Given the description of an element on the screen output the (x, y) to click on. 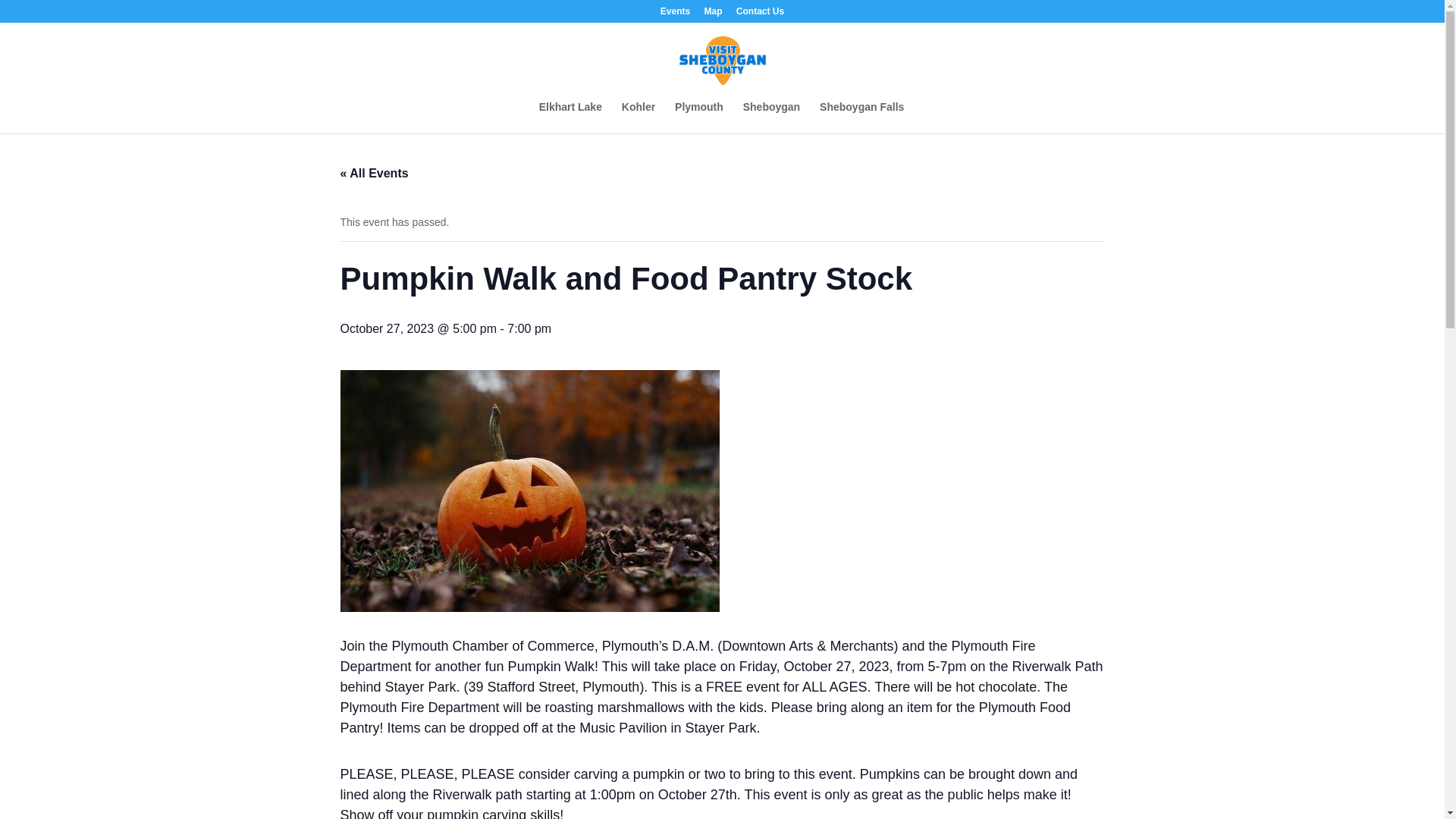
Events (675, 14)
Elkhart Lake (570, 117)
Map (712, 14)
Kohler (638, 117)
Sheboygan (770, 117)
Contact Us (760, 14)
Sheboygan Falls (861, 117)
Plymouth (699, 117)
